Given the description of an element on the screen output the (x, y) to click on. 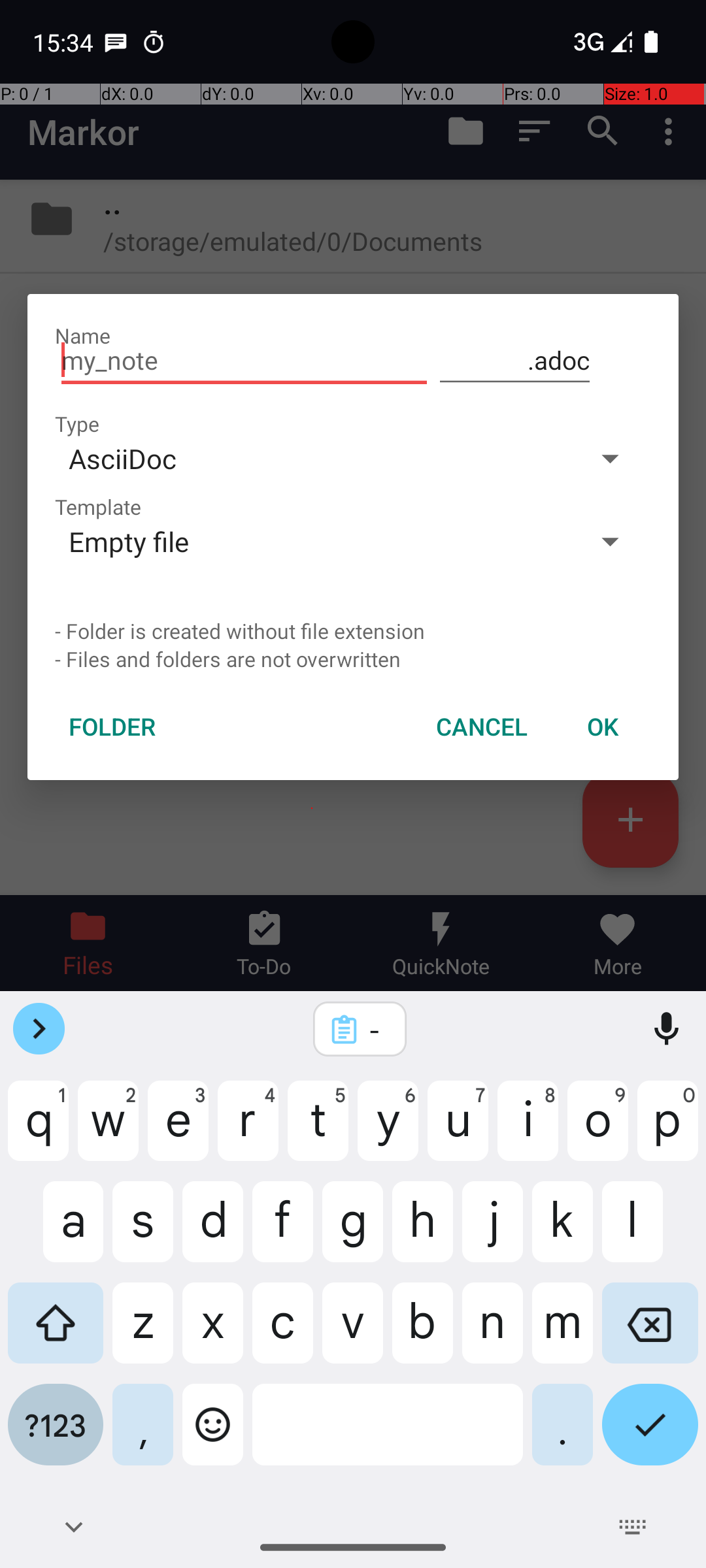
.adoc Element type: android.widget.EditText (514, 360)
